Given the description of an element on the screen output the (x, y) to click on. 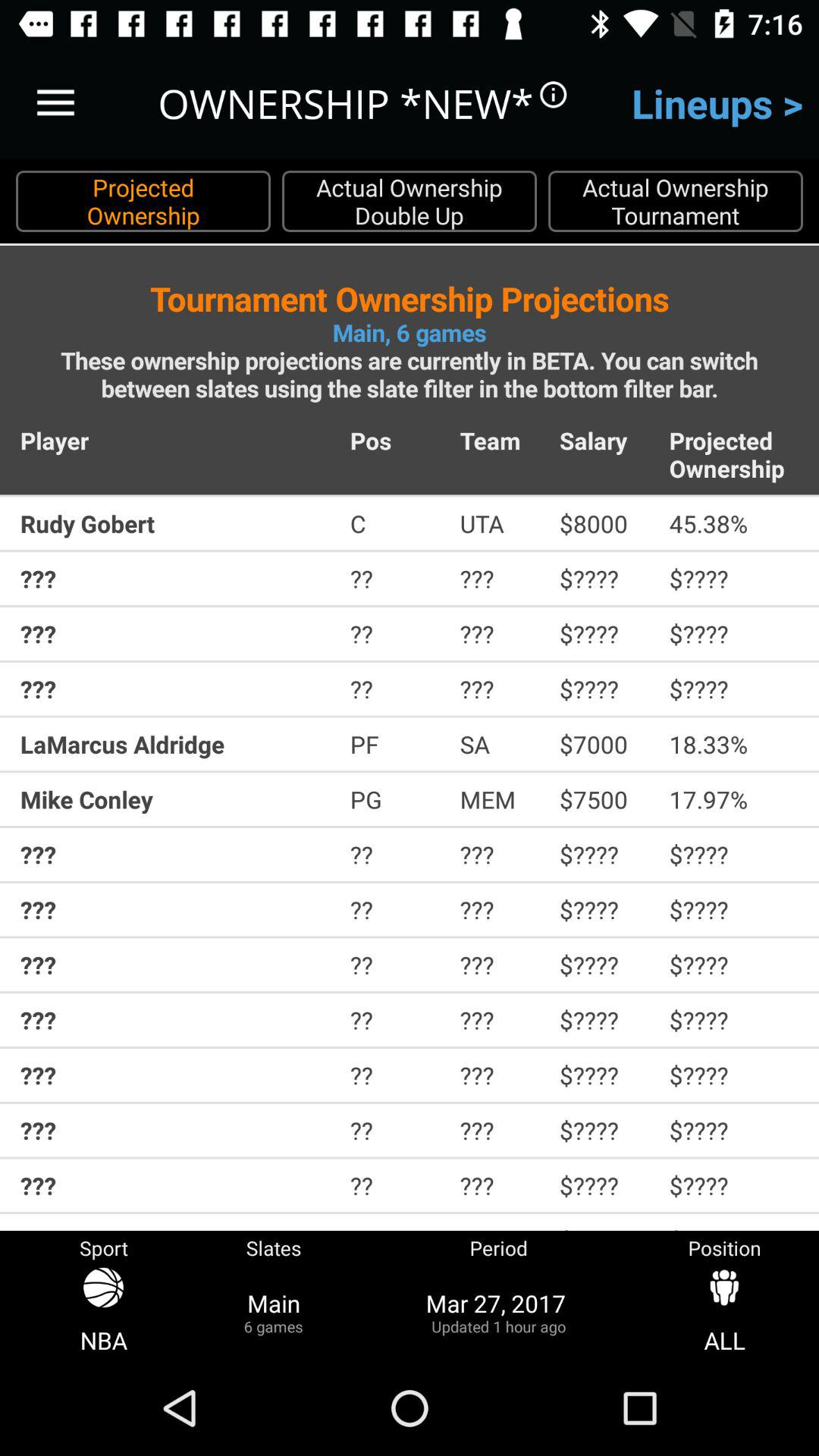
turn on the icon next to $7000 (733, 744)
